Given the description of an element on the screen output the (x, y) to click on. 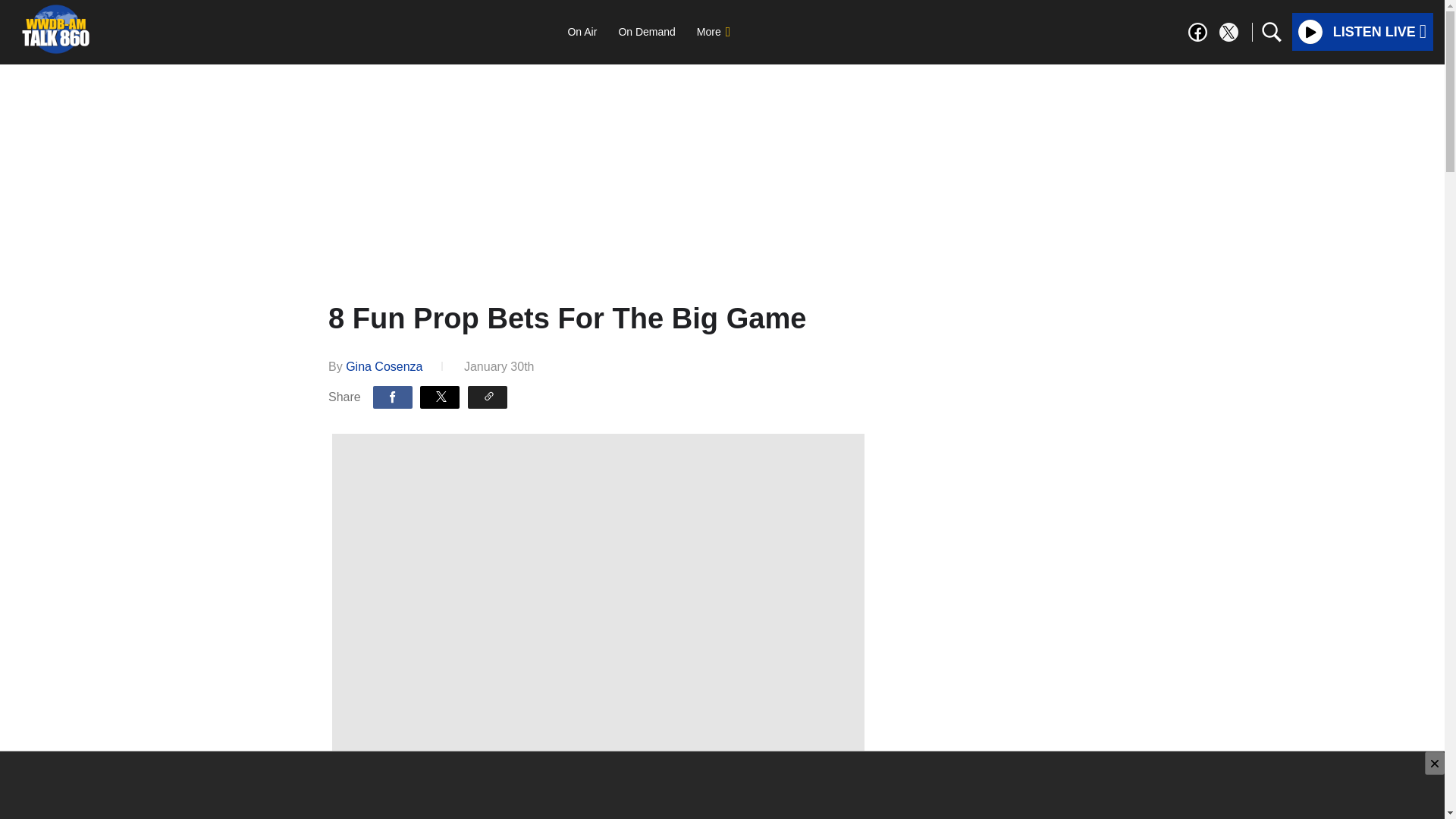
More (713, 31)
On Demand (646, 31)
On Air (581, 31)
Gina Cosenza (384, 366)
Close AdCheckmark indicating ad close (1434, 763)
Gina Cosenza (384, 366)
